Given the description of an element on the screen output the (x, y) to click on. 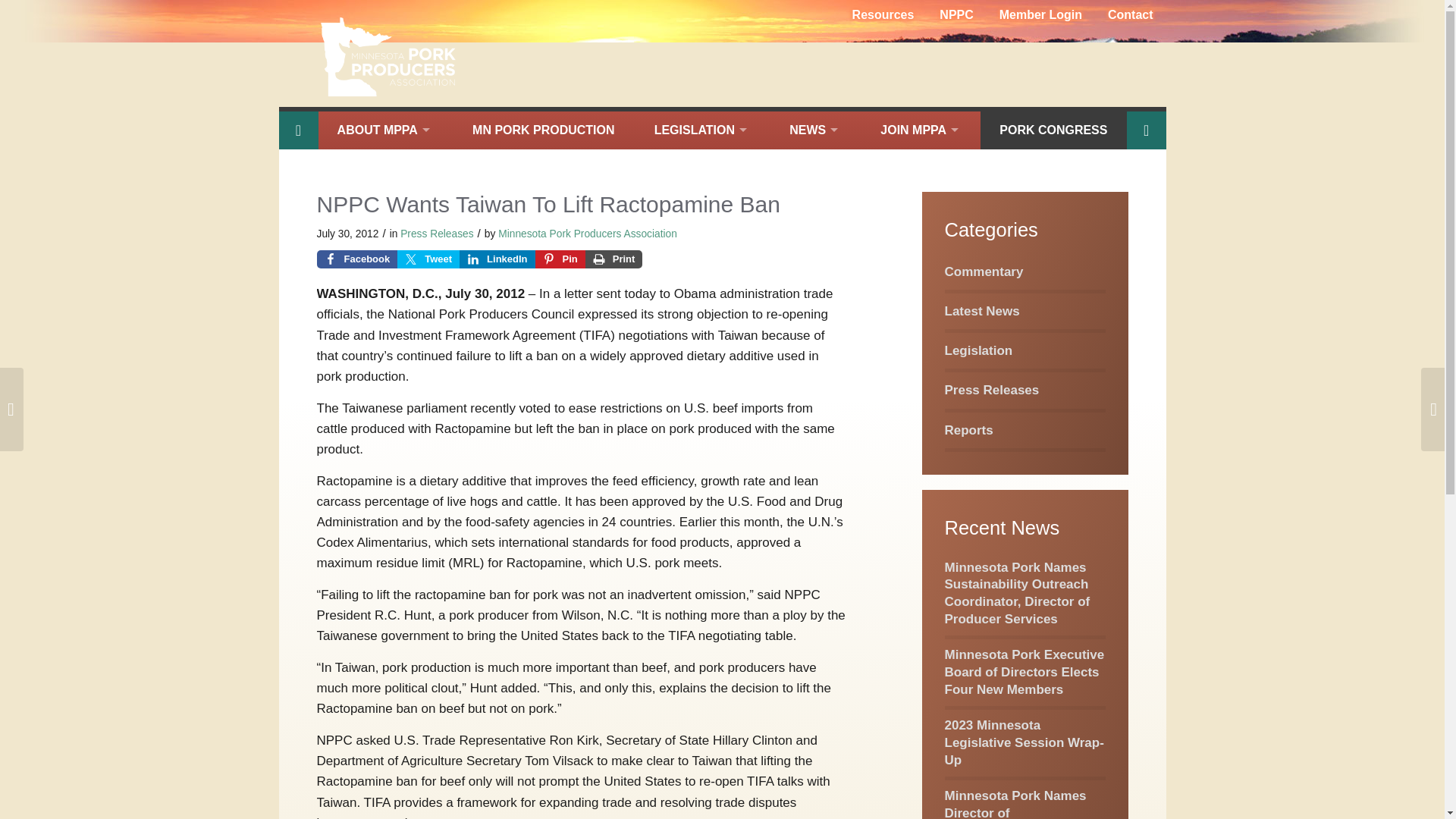
Share on Twitter (428, 259)
Press Releases (436, 233)
Print (614, 259)
Commentary (983, 271)
Reports (968, 430)
Tweet (428, 259)
PORK CONGRESS (1052, 130)
Minnesota Pork Producers Association (587, 233)
Facebook (357, 259)
Share on Facebook (357, 259)
Pin (560, 259)
Contact (1130, 15)
LEGISLATION (701, 130)
LinkedIn (497, 259)
